Given the description of an element on the screen output the (x, y) to click on. 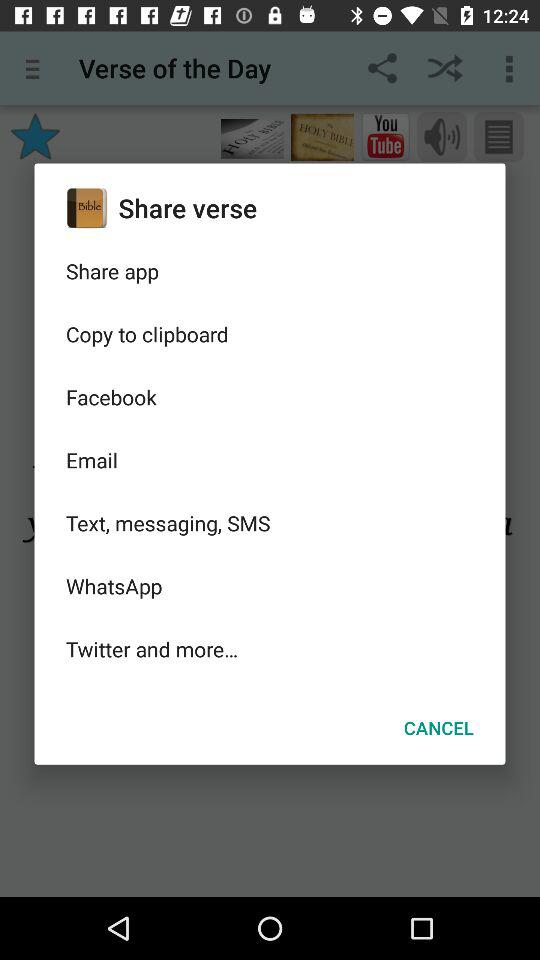
select cancel at the bottom right corner (438, 727)
